Given the description of an element on the screen output the (x, y) to click on. 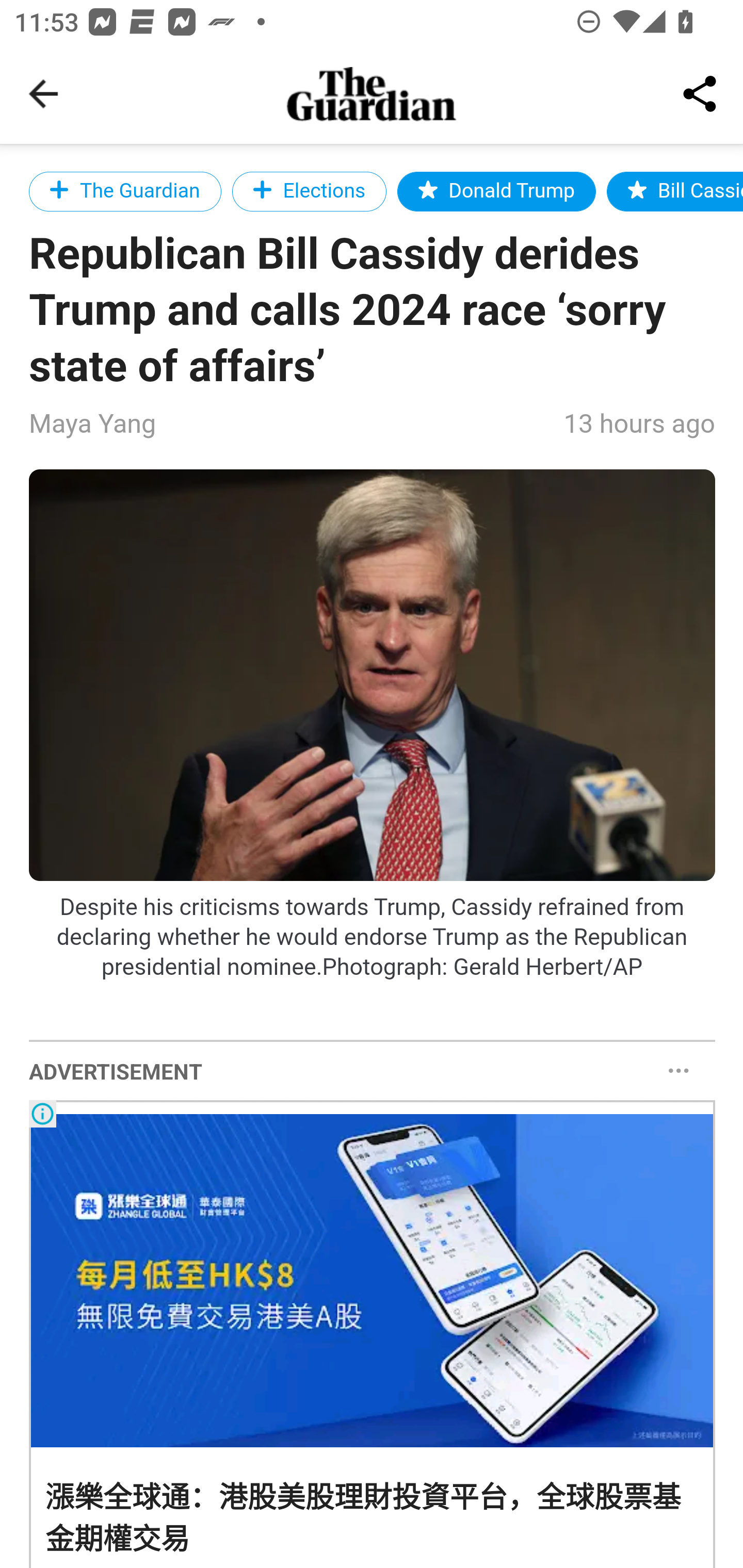
The Guardian (125, 191)
Elections (309, 191)
Donald Trump (496, 191)
